Given the description of an element on the screen output the (x, y) to click on. 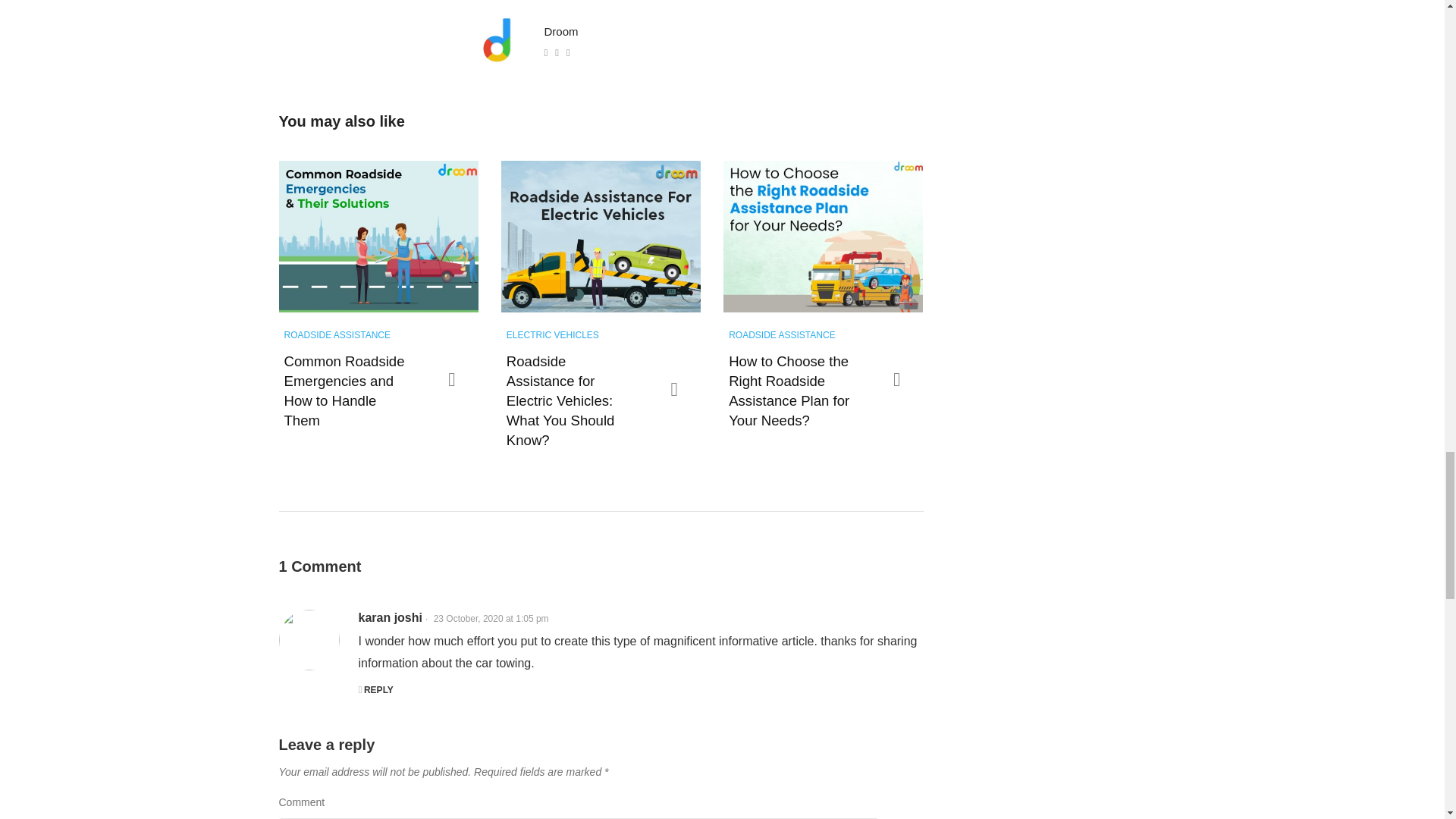
Posts by Droom (561, 31)
